Given the description of an element on the screen output the (x, y) to click on. 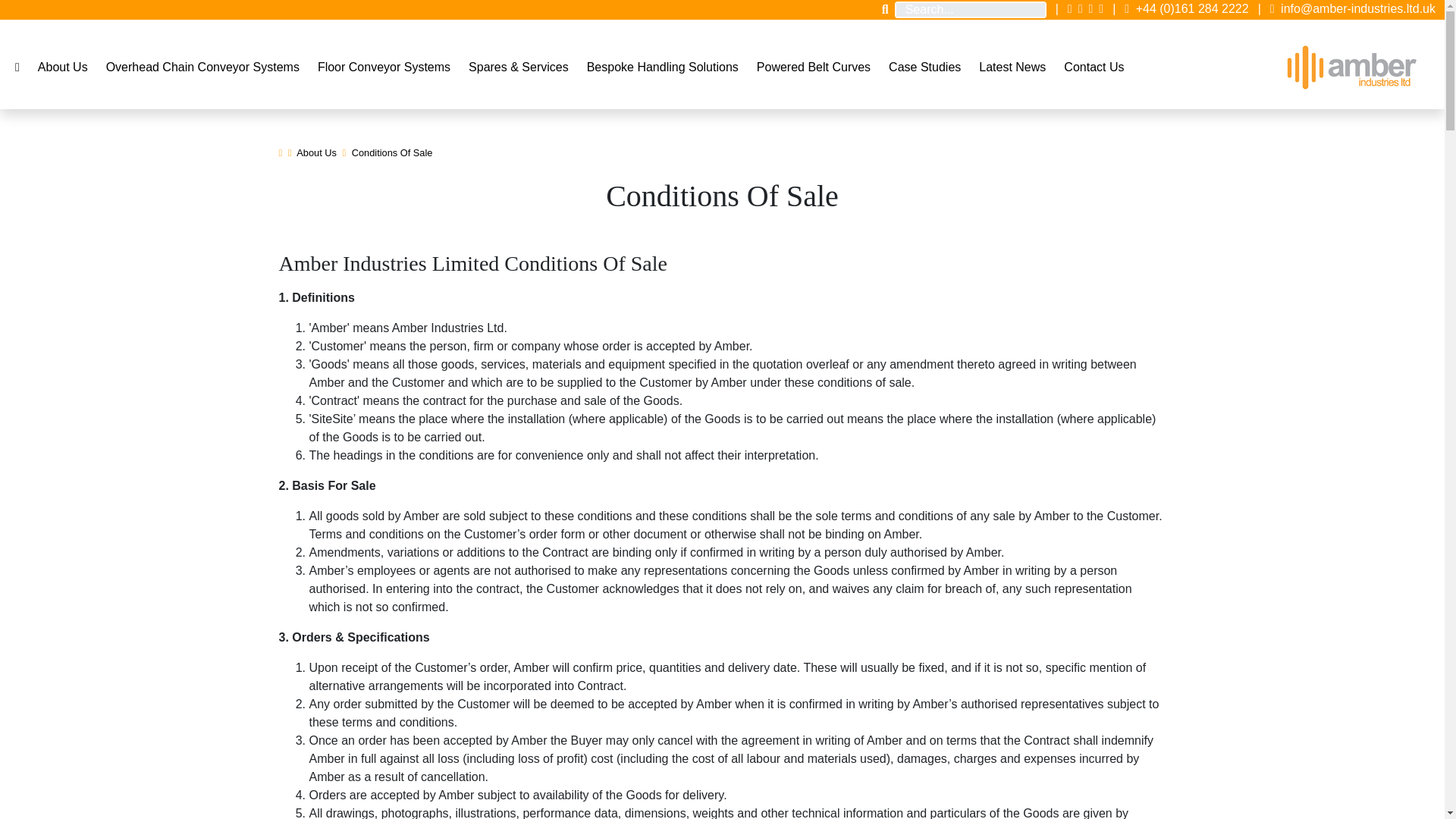
Floor Conveyor Systems (384, 67)
Overhead Chain Conveyor Systems (202, 67)
About Us (63, 67)
Amber Industries Ltd Logo (1350, 66)
